Given the description of an element on the screen output the (x, y) to click on. 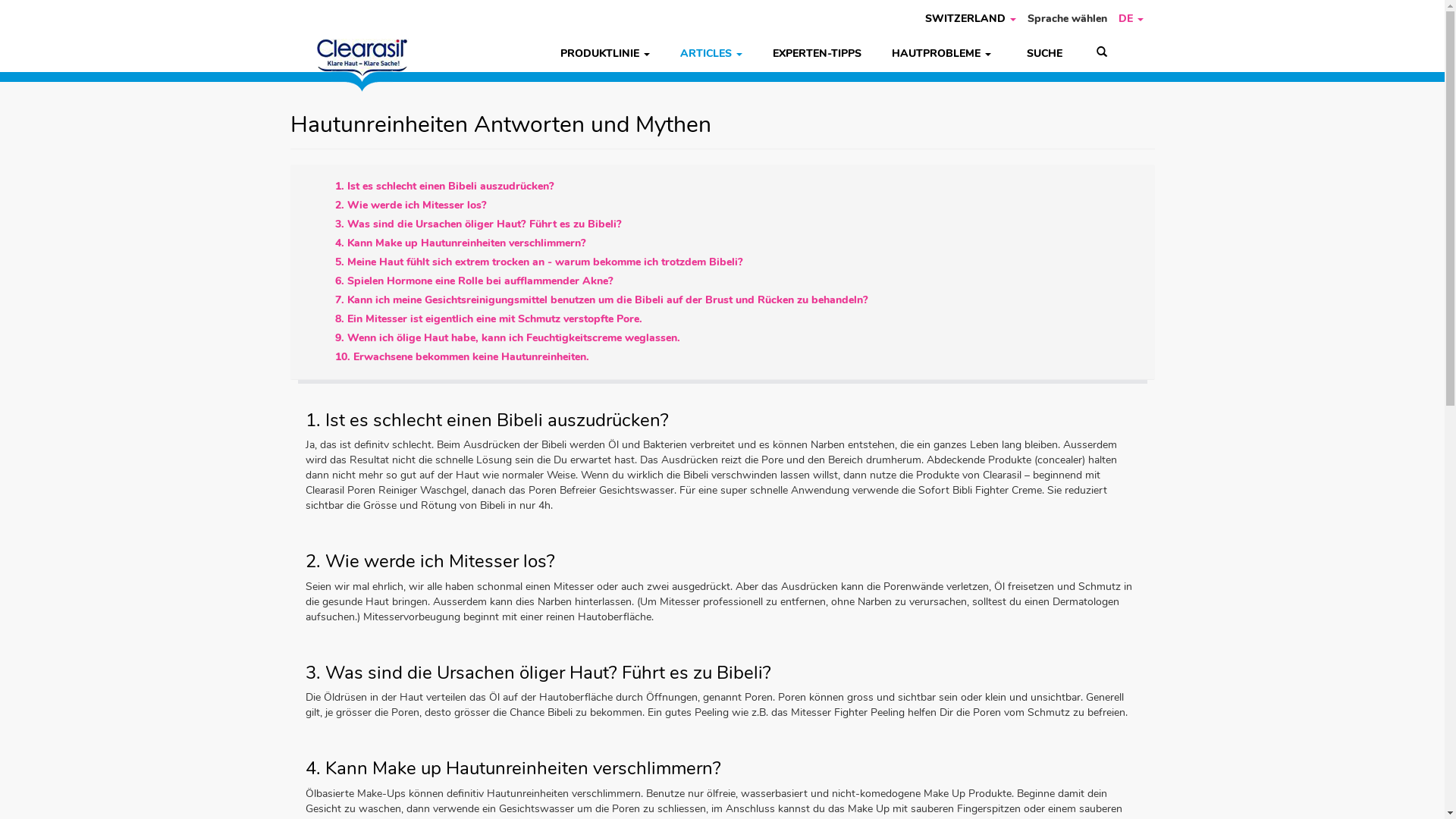
text Element type: hover (1052, 52)
PRODUKTLINIE Element type: text (604, 53)
DE Element type: text (1130, 18)
10. Erwachsene bekommen keine Hautunreinheiten. Element type: text (462, 356)
SWITZERLAND Element type: text (969, 18)
EXPERTEN-TIPPS Element type: text (815, 53)
Search Element type: text (1101, 52)
ARTICLES Element type: text (710, 53)
6. Spielen Hormone eine Rolle bei aufflammender Akne? Element type: text (474, 280)
4. Kann Make up Hautunreinheiten verschlimmern? Element type: text (460, 242)
2. Wie werde ich Mitesser los? Element type: text (410, 204)
HAUTPROBLEME Element type: text (941, 53)
